Given the description of an element on the screen output the (x, y) to click on. 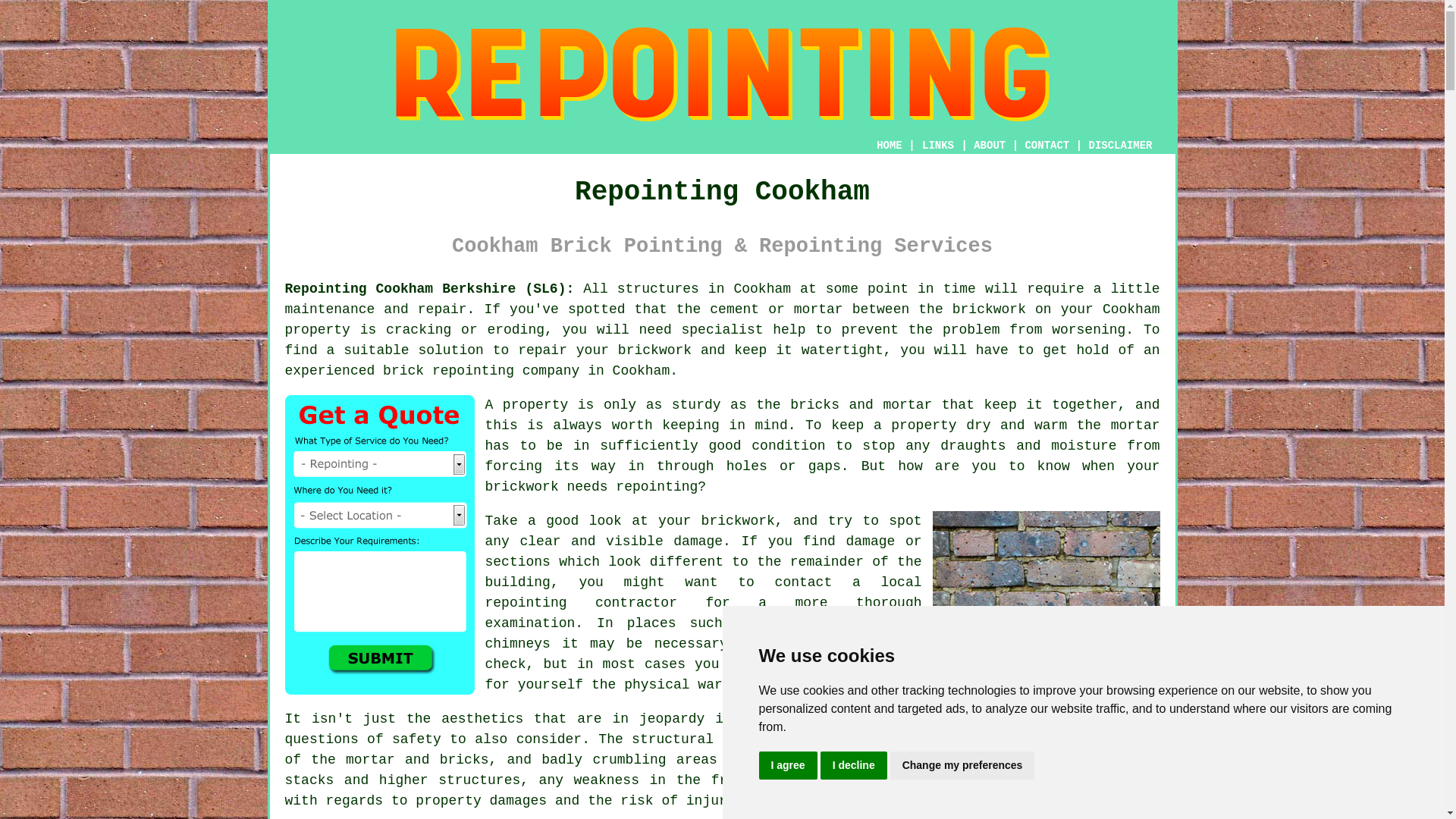
Repointing Cookham Berkshire (1046, 585)
Change my preferences (962, 765)
I agree (787, 765)
repointing (472, 370)
LINKS (938, 145)
repointing (525, 602)
mortar (1135, 425)
I decline (853, 765)
HOME (889, 145)
Repointing Cookham (722, 74)
